Given the description of an element on the screen output the (x, y) to click on. 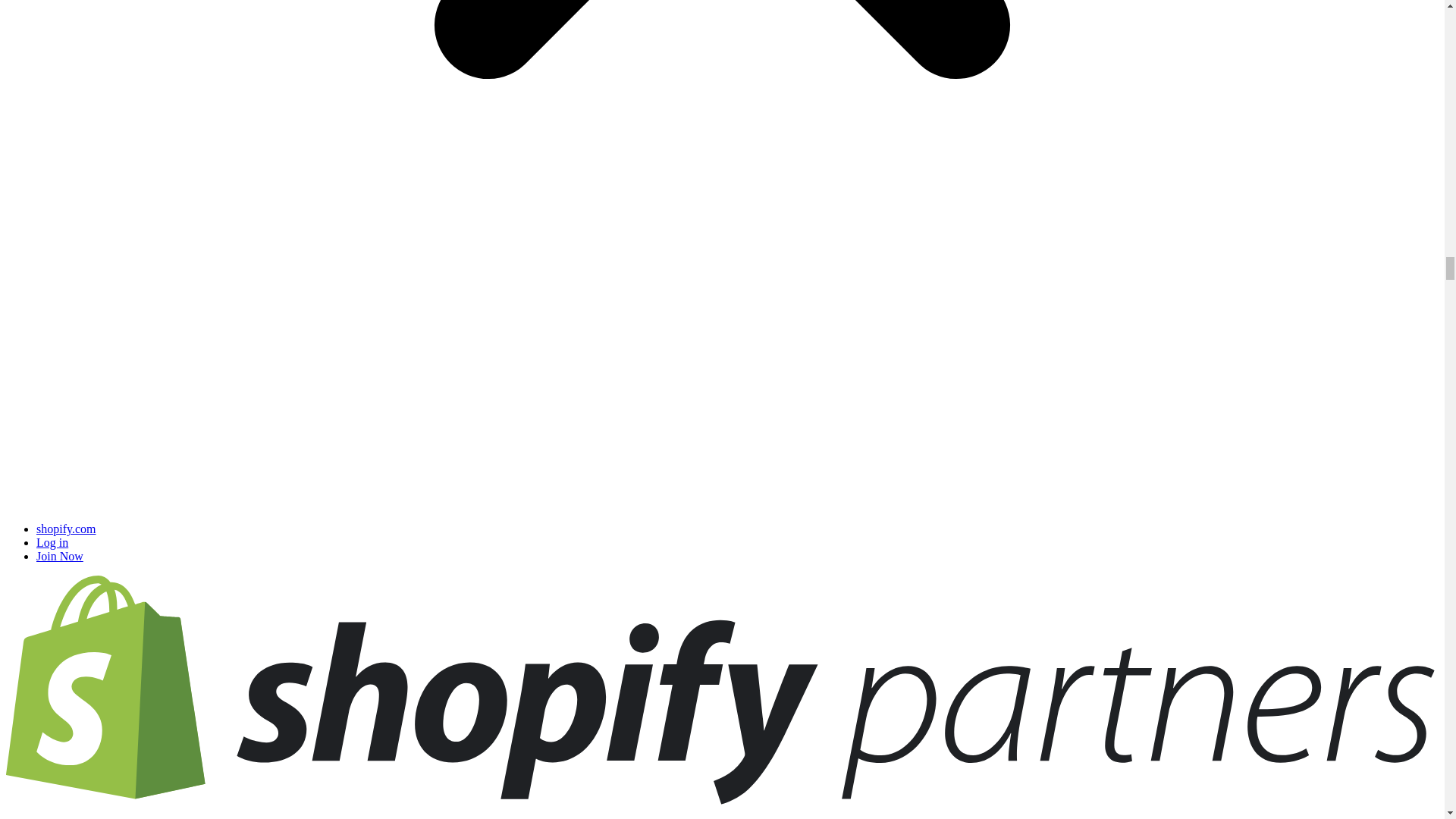
Join Now (59, 555)
shopify.com (66, 528)
Log in (52, 542)
